Given the description of an element on the screen output the (x, y) to click on. 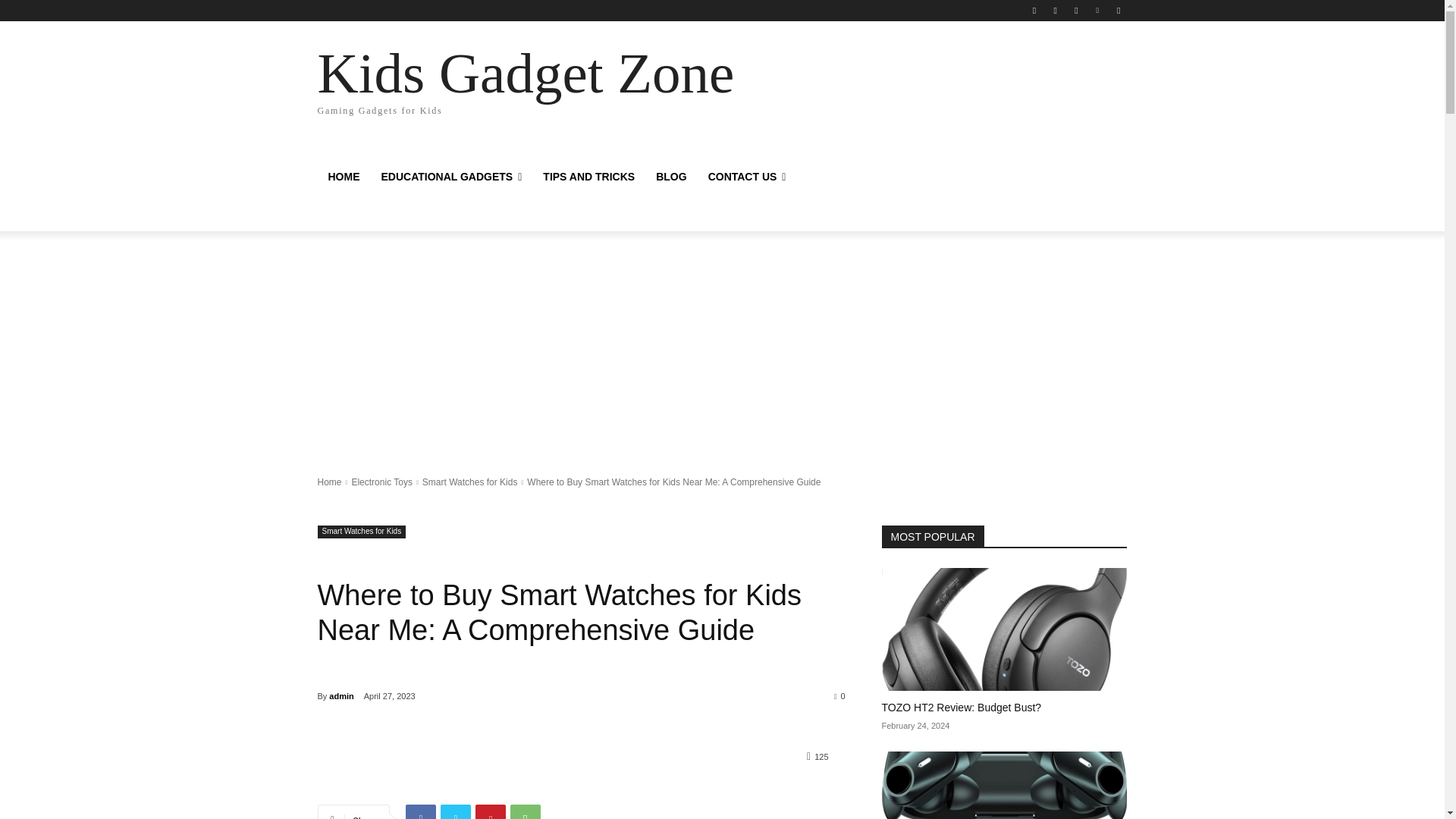
0 (839, 695)
Home (328, 481)
CONTACT US (746, 176)
View all posts in Electronic Toys (381, 481)
TIPS AND TRICKS (588, 176)
Electronic Toys (381, 481)
Youtube (1117, 9)
Smart Watches for Kids (470, 481)
Smart Watches for Kids (361, 531)
View all posts in Smart Watches for Kids (470, 481)
HOME (343, 176)
BLOG (671, 176)
admin (341, 695)
Facebook (1034, 9)
